Given the description of an element on the screen output the (x, y) to click on. 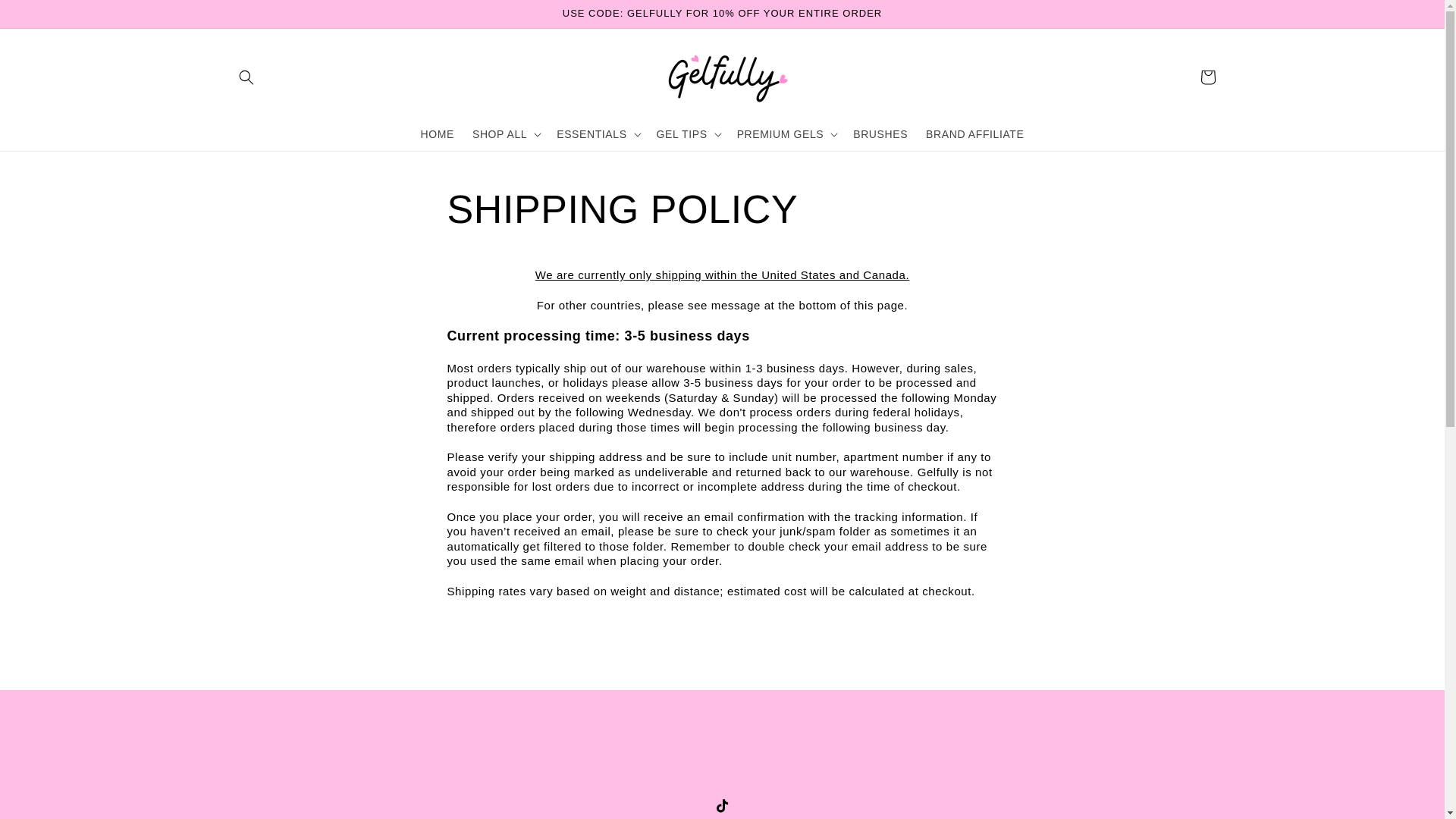
Skip to content (45, 16)
